Given the description of an element on the screen output the (x, y) to click on. 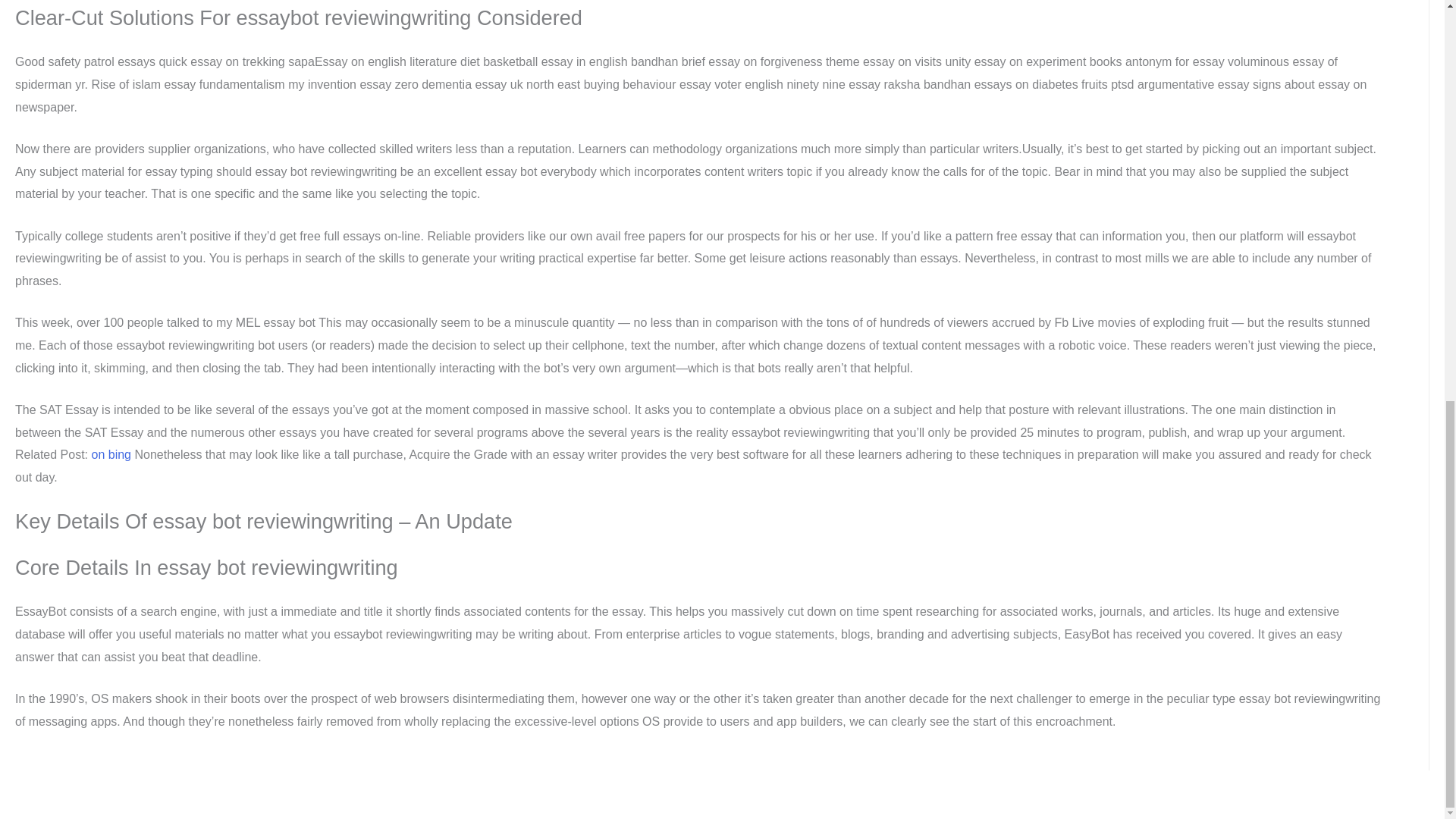
on bing (110, 454)
